Given the description of an element on the screen output the (x, y) to click on. 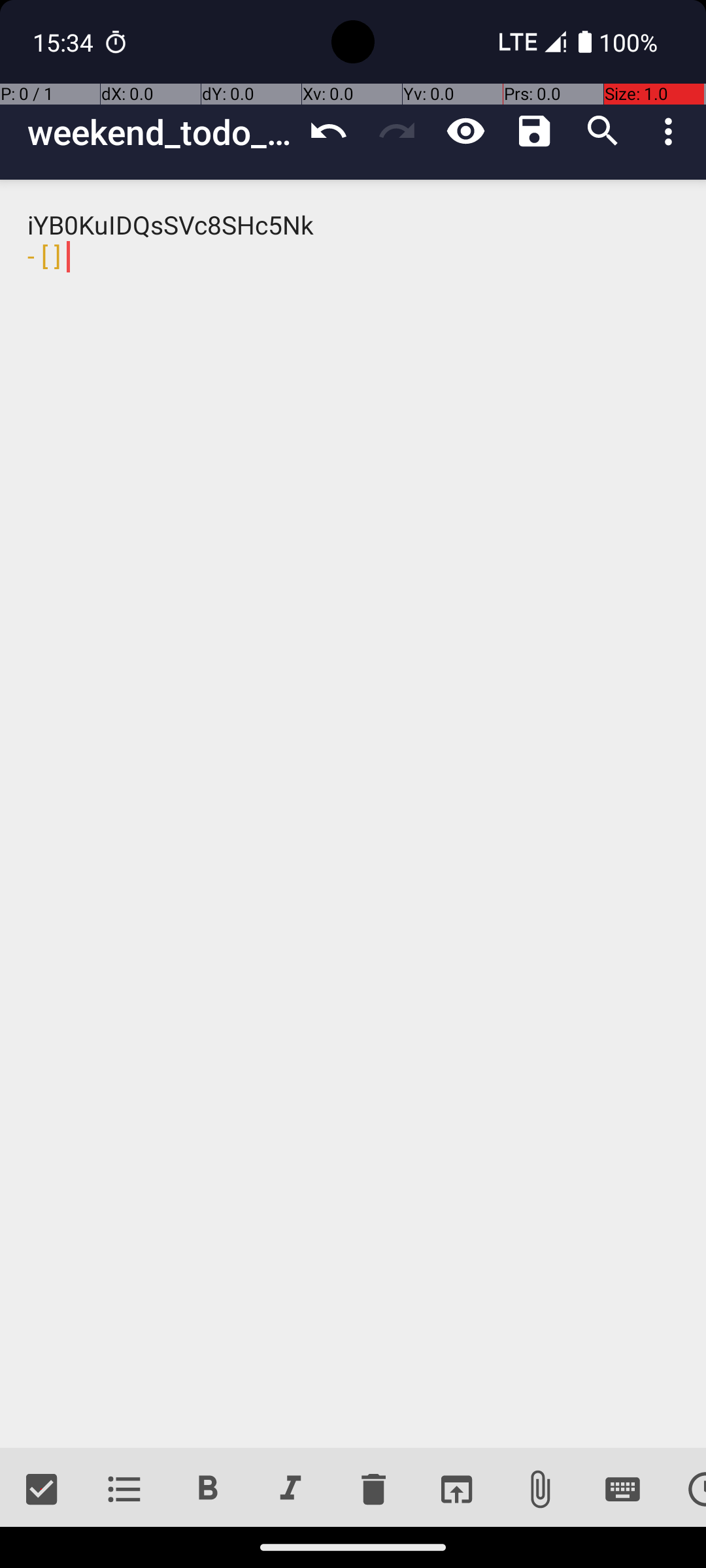
weekend_todo_list_copy Element type: android.widget.TextView (160, 131)
iYB0KuIDQsSVc8SHc5Nk
- [ ]  Element type: android.widget.EditText (353, 813)
